Given the description of an element on the screen output the (x, y) to click on. 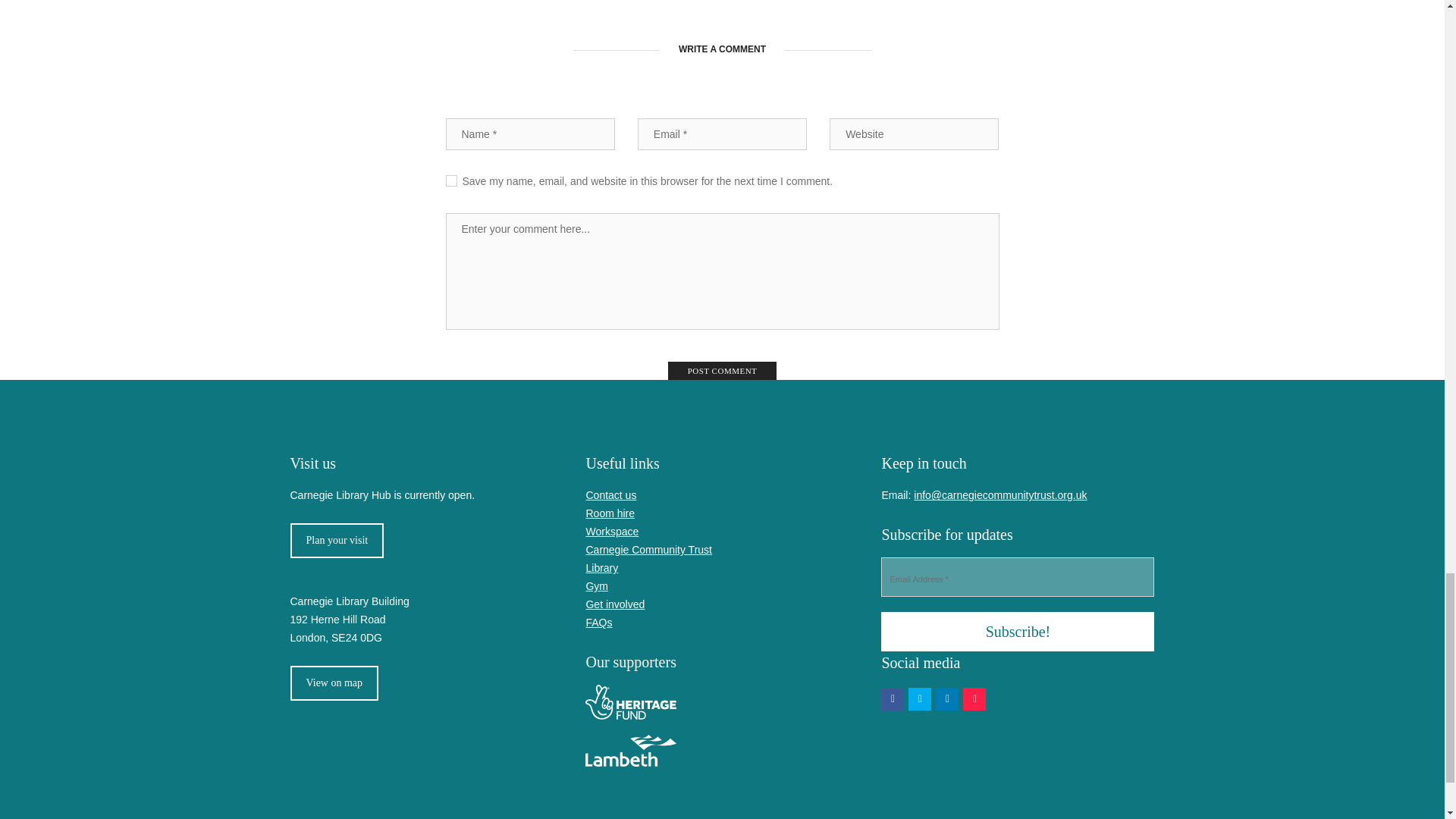
Email Address (1017, 577)
Post Comment (722, 370)
yes (451, 180)
Subscribe! (1017, 631)
